Given the description of an element on the screen output the (x, y) to click on. 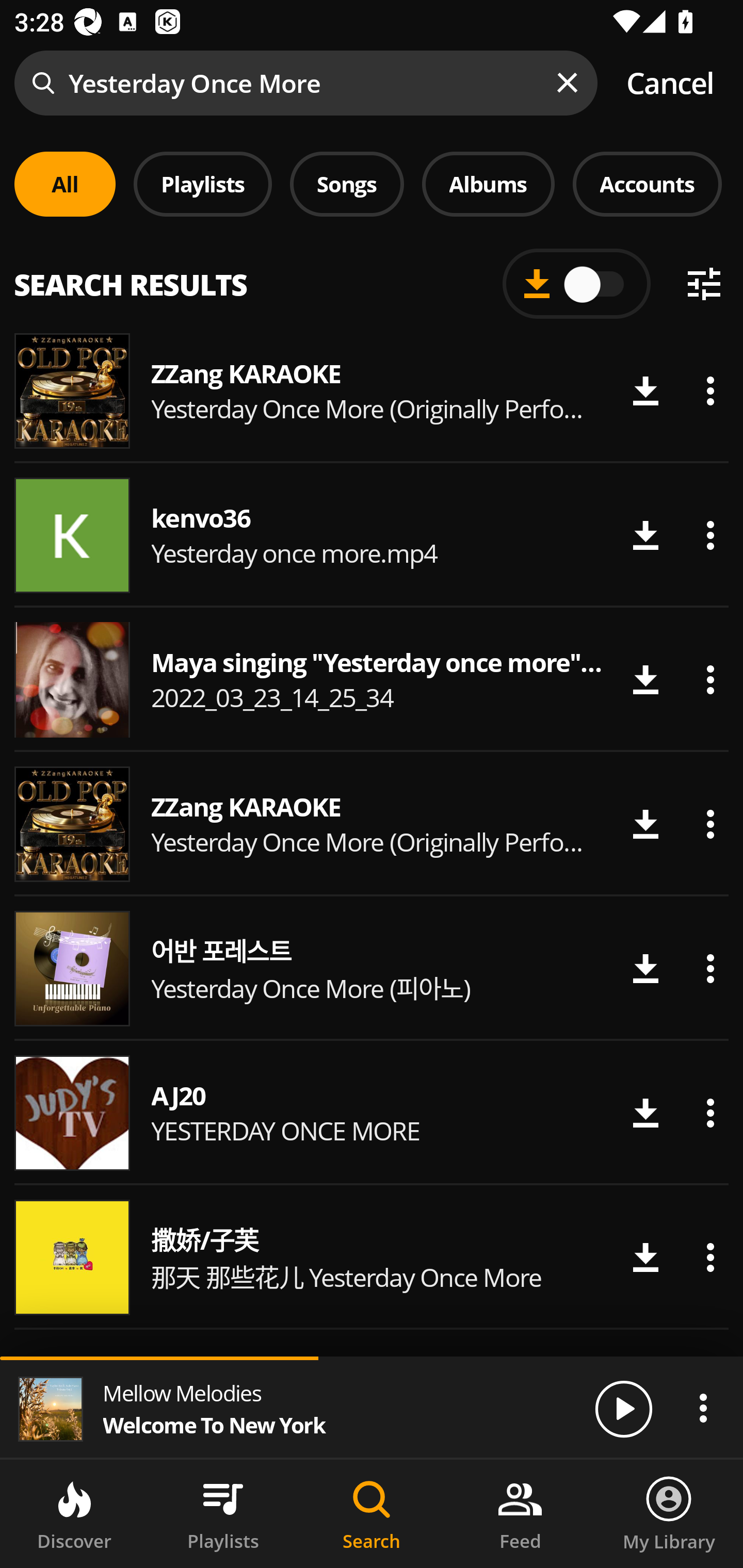
Yesterday Once More Cancel (371, 82)
Cancel (670, 82)
All (64, 184)
Playlists (202, 184)
Songs (346, 184)
Albums (488, 184)
Accounts (647, 184)
All Country Afrosounds Pop Caribbean (371, 275)
Pop (529, 288)
Download (644, 391)
Actions (710, 391)
Download (644, 535)
Actions (710, 535)
Download (644, 679)
Actions (710, 679)
Download (644, 823)
Actions (710, 823)
Download (644, 968)
Actions (710, 968)
Download (644, 1113)
Actions (710, 1113)
Download (644, 1257)
Actions (710, 1257)
Actions (703, 1407)
Play/Pause (623, 1408)
Discover (74, 1513)
Playlists (222, 1513)
Search (371, 1513)
Feed (519, 1513)
My Library (668, 1513)
